Given the description of an element on the screen output the (x, y) to click on. 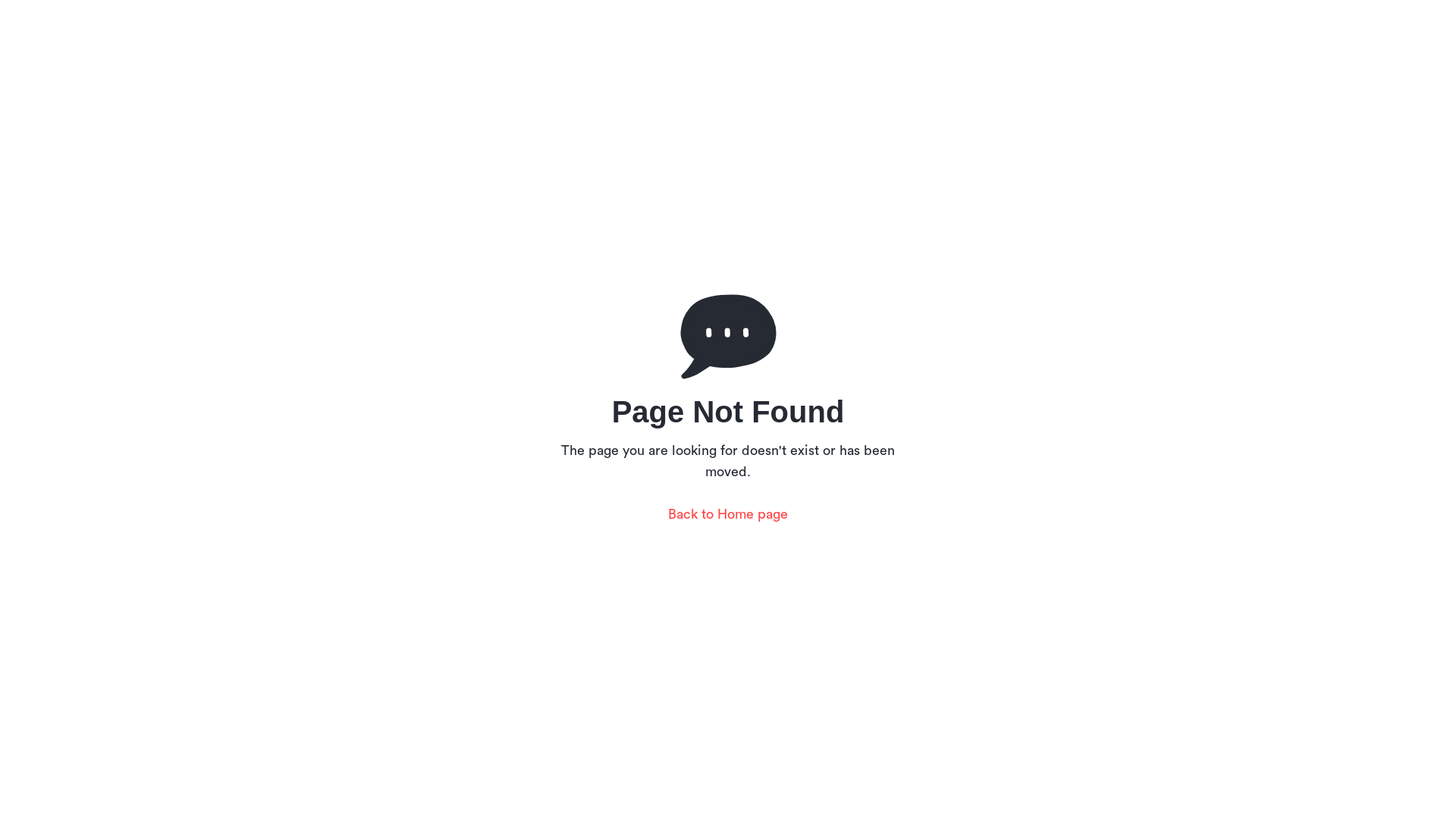
Back to Home page Element type: text (727, 514)
